Given the description of an element on the screen output the (x, y) to click on. 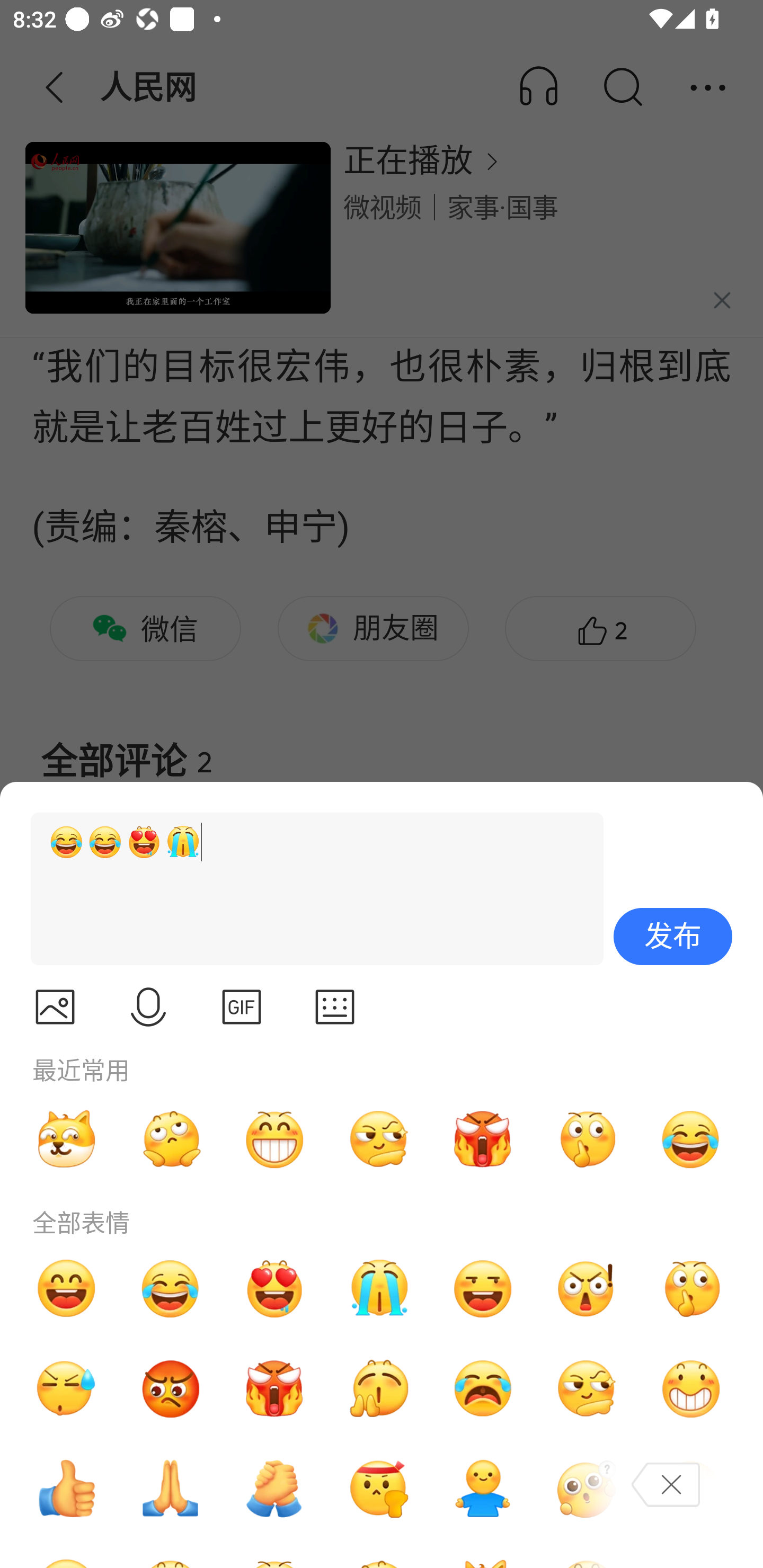
[哭笑][哭笑][喜欢][哭] (308, 888)
发布 (672, 936)
 (54, 1007)
 (148, 1007)
 (241, 1007)
 (334, 1007)
奸笑 (66, 1138)
无聊 (170, 1138)
呲牙 (274, 1138)
机智 (378, 1138)
愤怒 (482, 1138)
嘘 (586, 1138)
哭笑 (690, 1138)
哈哈 (66, 1288)
哭笑 (170, 1288)
喜欢 (274, 1288)
哭 (378, 1288)
嘿嘿 (482, 1288)
吃惊 (586, 1288)
嘘 (690, 1288)
汗 (66, 1389)
生气 (170, 1389)
愤怒 (274, 1389)
喝彩 (378, 1389)
抓狂 (482, 1389)
机智 (586, 1389)
坏笑 (690, 1389)
点赞 (66, 1488)
缅怀 (170, 1488)
加油 (274, 1488)
奋斗 (378, 1488)
抱抱 (482, 1488)
疑问 (586, 1488)
捂脸 (690, 1488)
